Given the description of an element on the screen output the (x, y) to click on. 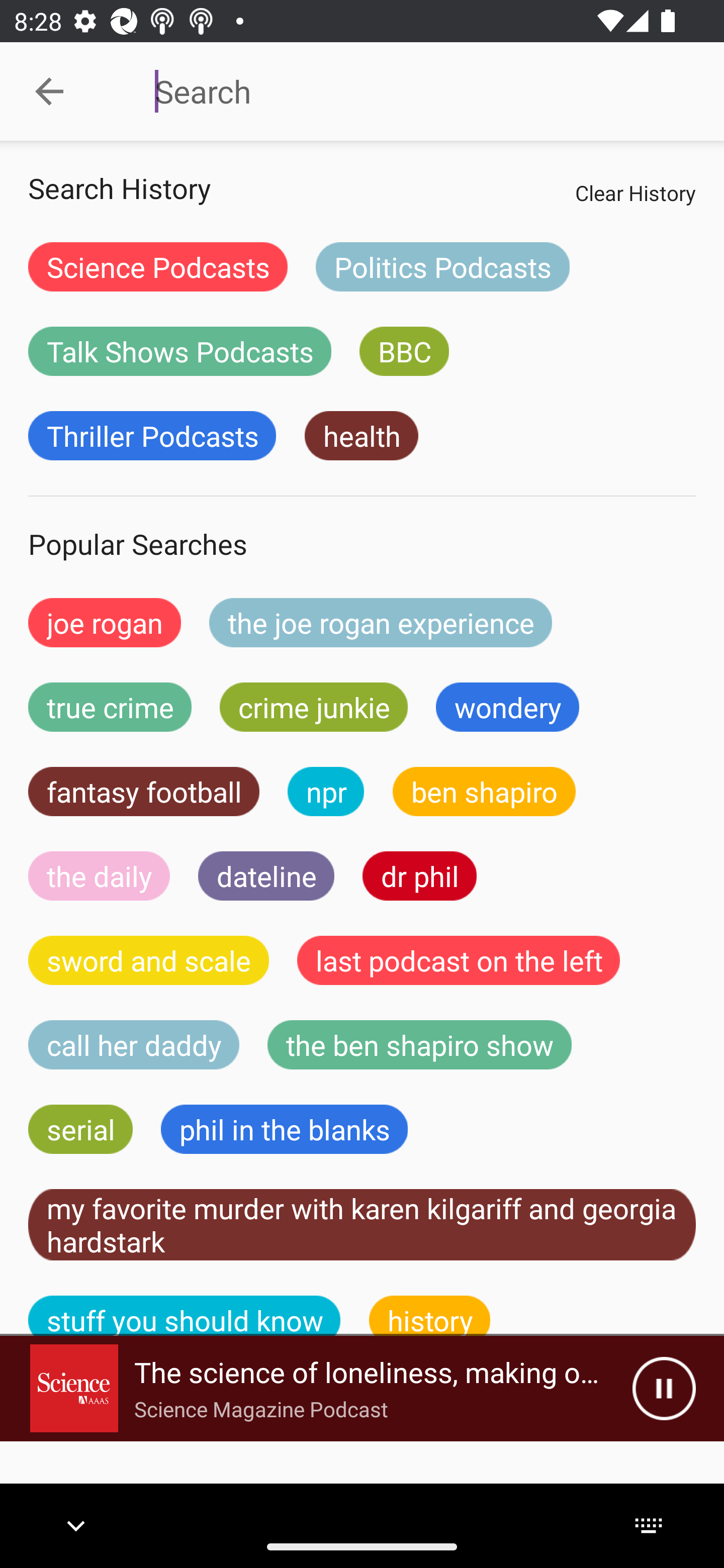
Collapse (49, 91)
Search (407, 91)
Clear History (634, 192)
Science Podcasts (157, 266)
Politics Podcasts (442, 266)
Talk Shows Podcasts (179, 351)
BBC (403, 351)
Thriller Podcasts (152, 435)
health (361, 435)
joe rogan (104, 622)
the joe rogan experience (380, 622)
true crime (109, 707)
crime junkie (313, 707)
wondery (507, 707)
fantasy football (143, 791)
npr (325, 791)
ben shapiro (483, 791)
the daily (99, 875)
dateline (266, 875)
dr phil (419, 875)
sword and scale (148, 960)
last podcast on the left (458, 960)
call her daddy (133, 1044)
the ben shapiro show (419, 1044)
serial (80, 1128)
phil in the blanks (283, 1128)
stuff you should know (184, 1315)
history (429, 1315)
Pause (663, 1388)
